Given the description of an element on the screen output the (x, y) to click on. 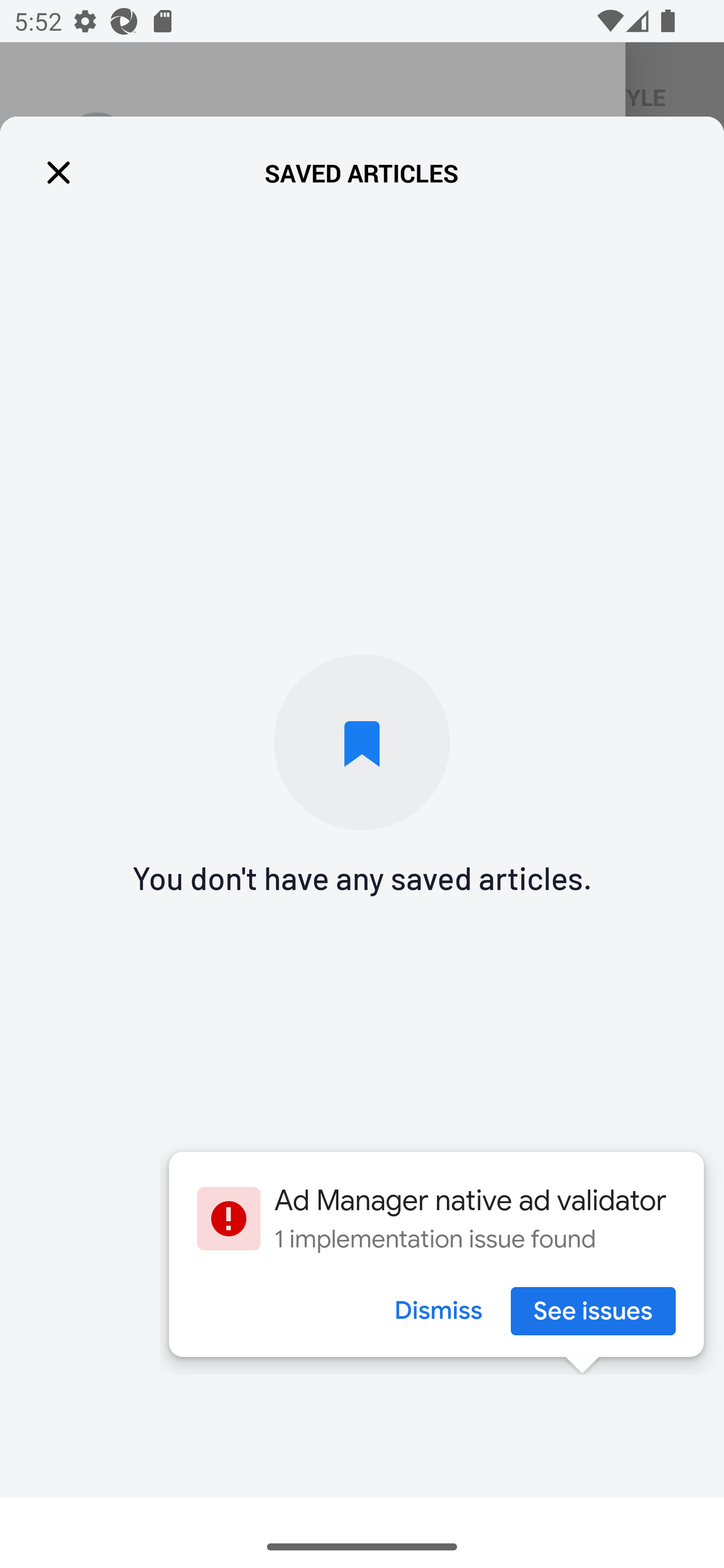
Leading Icon (59, 173)
